Given the description of an element on the screen output the (x, y) to click on. 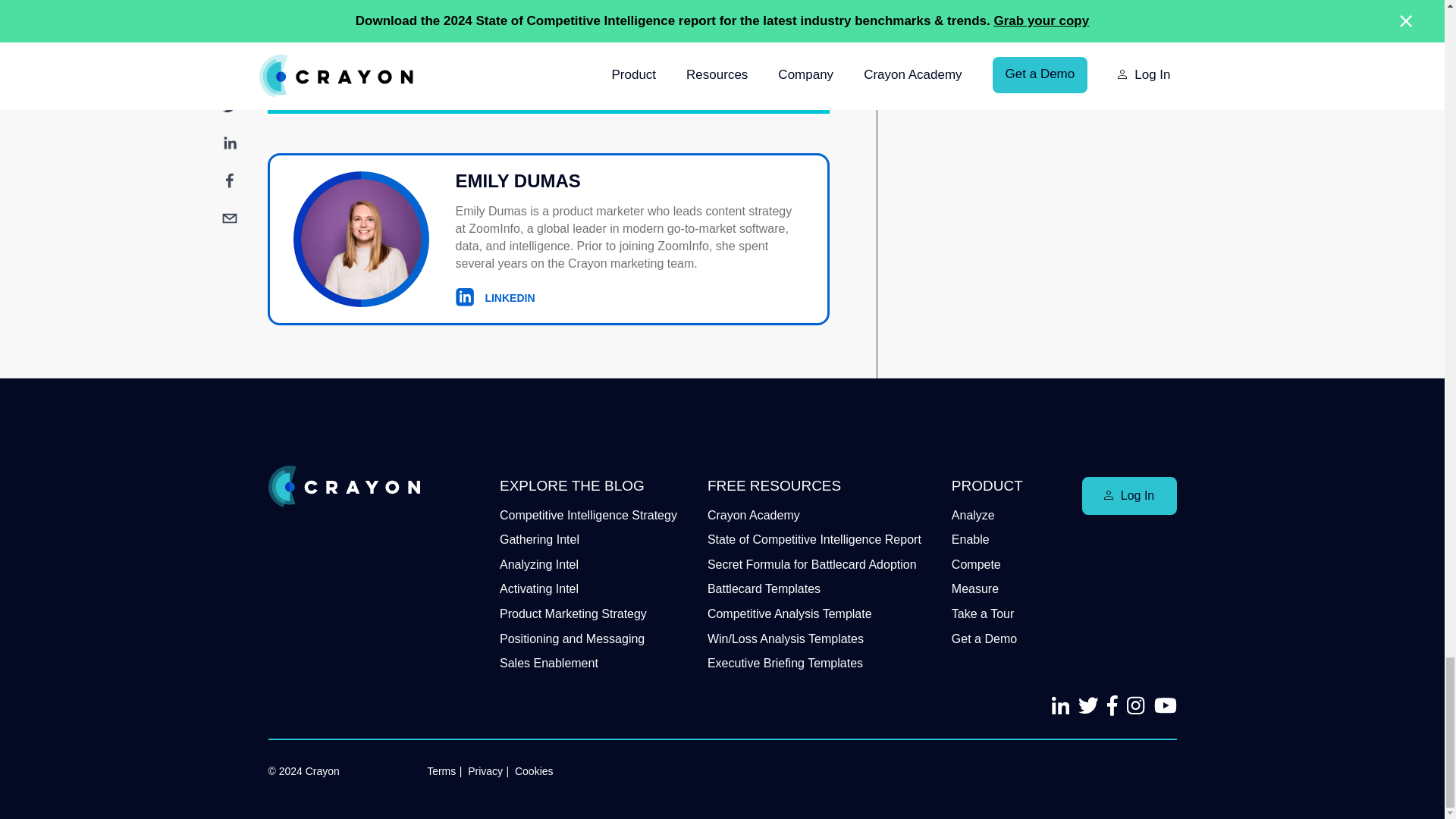
LINKEDIN (494, 297)
EMILY DUMAS (628, 181)
Follow us on Twitter (1088, 705)
Follow us on Facebook (1165, 705)
